Given the description of an element on the screen output the (x, y) to click on. 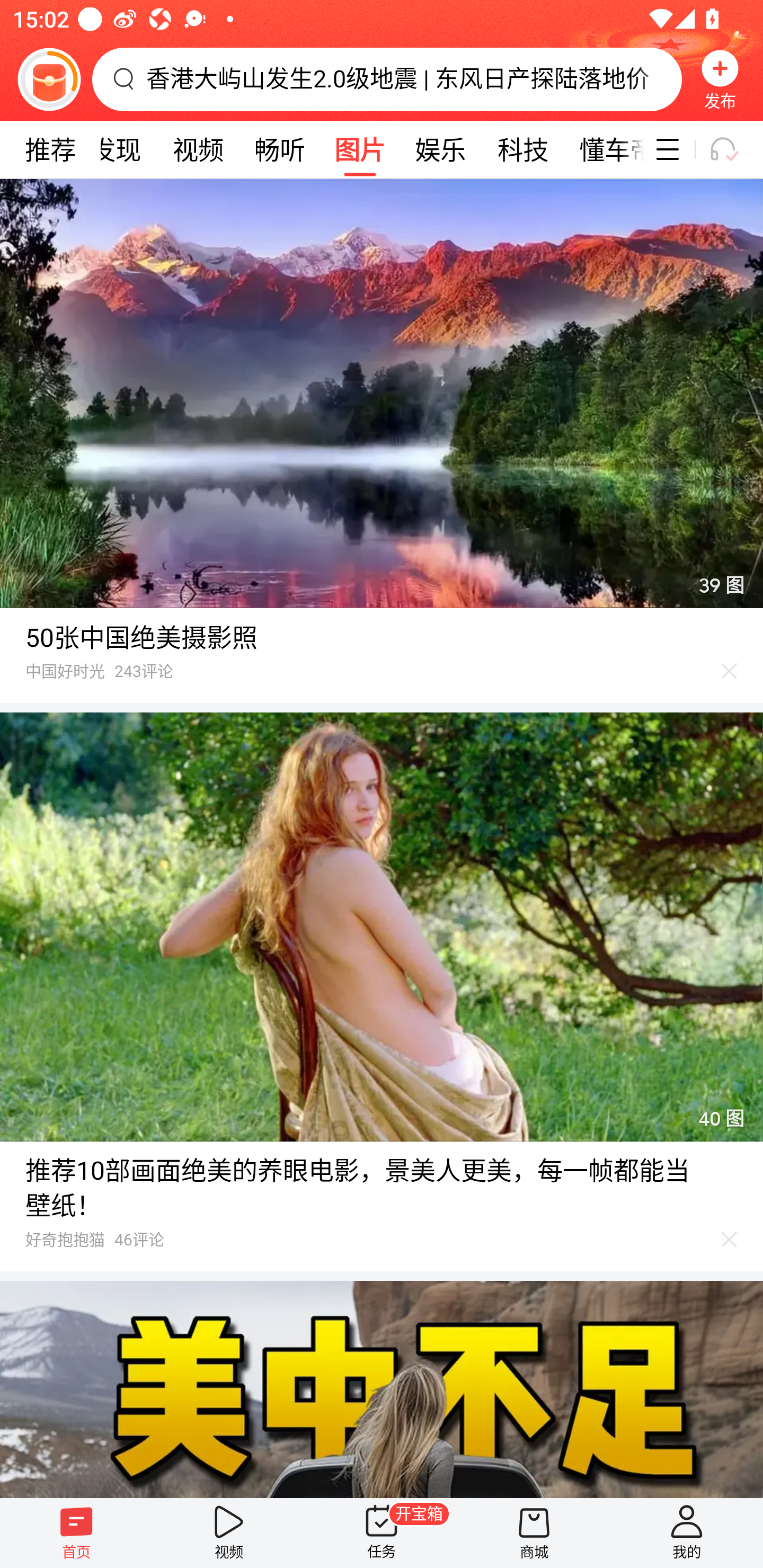
阅读赚金币 (48, 79)
发布 发布，按钮 (720, 78)
推荐 (49, 149)
发现 (115, 149)
视频 (198, 149)
畅听 (279, 149)
图片 (359, 149)
娱乐 (440, 149)
科技 (522, 149)
懂车帝 (603, 149)
听一听开关 (732, 149)
不感兴趣 (729, 670)
不感兴趣 (729, 1239)
屁股太小！为啥说，蔚来ET5T离完美就差这一点？作者为  高转青年  10评论   文章 (381, 1389)
首页 (76, 1532)
视频 (228, 1532)
任务 开宝箱 (381, 1532)
商城 (533, 1532)
我的 (686, 1532)
